Given the description of an element on the screen output the (x, y) to click on. 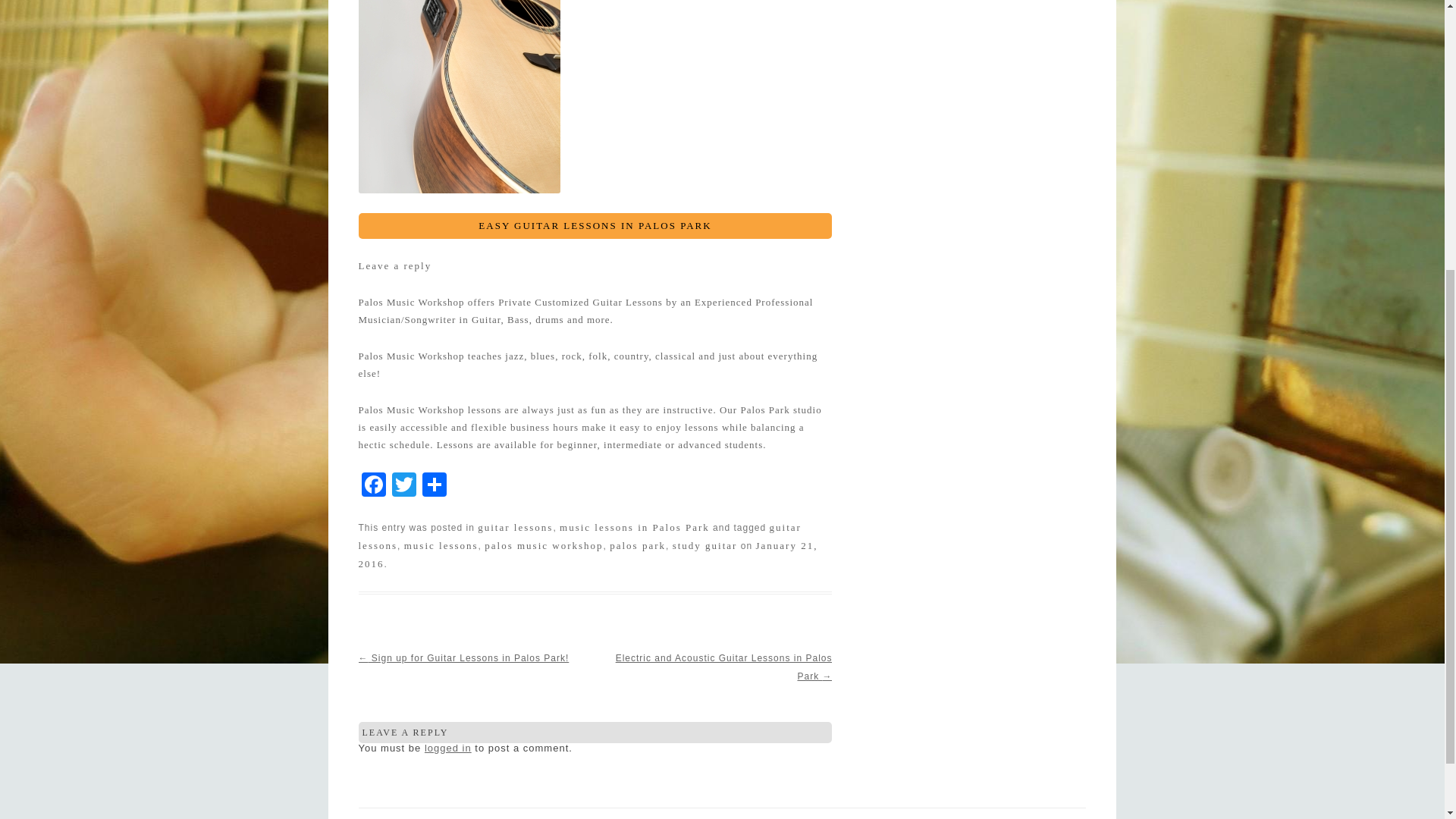
music lessons (441, 545)
palos music workshop (543, 545)
Facebook (373, 486)
5:40 am (587, 554)
Leave a reply (394, 265)
logged in (448, 747)
Facebook (373, 486)
January 21, 2016 (587, 554)
music lessons in Palos Park (634, 527)
Twitter (403, 486)
Twitter (403, 486)
guitar lessons (515, 527)
guitar lessons (579, 536)
study guitar (705, 545)
palos park (637, 545)
